Given the description of an element on the screen output the (x, y) to click on. 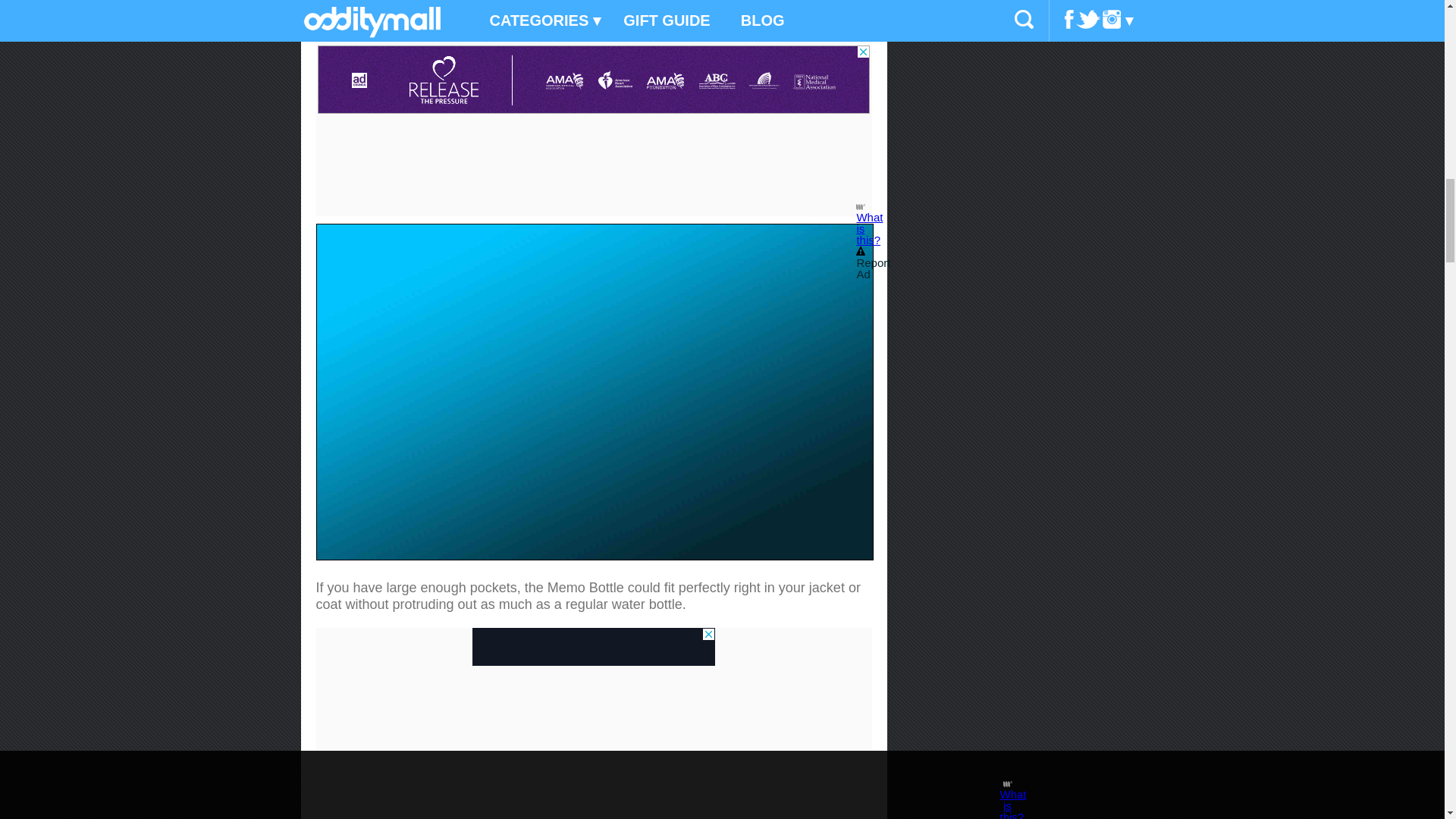
3rd party ad content (592, 646)
